Given the description of an element on the screen output the (x, y) to click on. 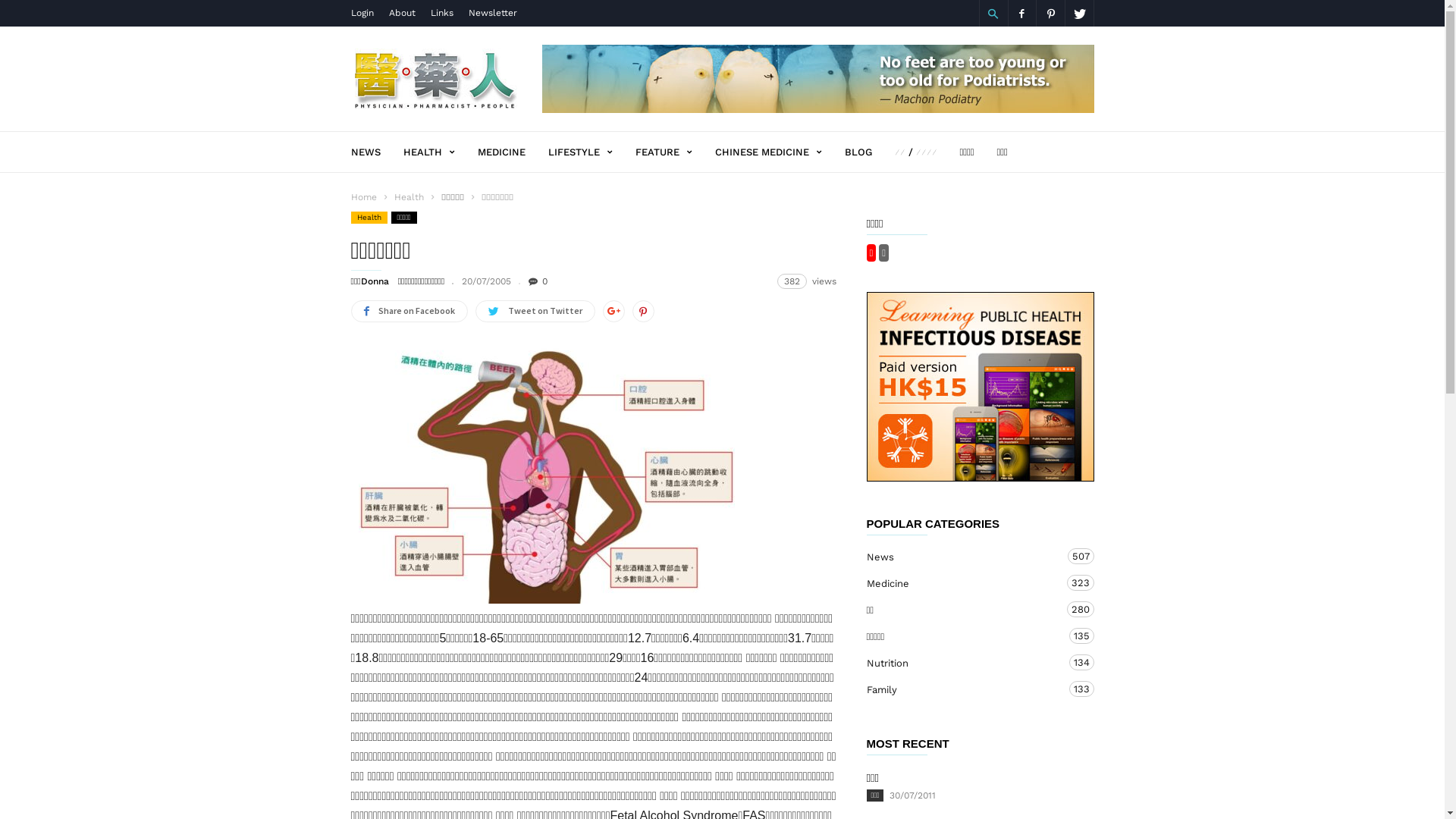
NEWS Element type: text (376, 151)
Twitter Element type: hover (1078, 13)
psycho-072005 Element type: hover (545, 470)
MEDICINE Element type: text (512, 151)
Newsletter Element type: text (492, 12)
Login Element type: text (361, 12)
Nutrition
134 Element type: text (964, 662)
BLOG Element type: text (869, 151)
LIFESTYLE Element type: text (590, 151)
Health Element type: text (410, 196)
Pinterest Element type: hover (1049, 13)
Home Element type: text (363, 196)
Health Element type: text (368, 217)
0 Element type: text (537, 281)
HEALTH Element type: text (440, 151)
Medicine
323 Element type: text (964, 583)
Facebook Element type: hover (1021, 13)
Share on Facebook Element type: text (408, 311)
News
507 Element type: text (964, 556)
Tweet on Twitter Element type: text (534, 311)
About Element type: text (401, 12)
Links Element type: text (441, 12)
FEATURE Element type: text (675, 151)
Family
133 Element type: text (964, 689)
CHINESE MEDICINE Element type: text (779, 151)
